Given the description of an element on the screen output the (x, y) to click on. 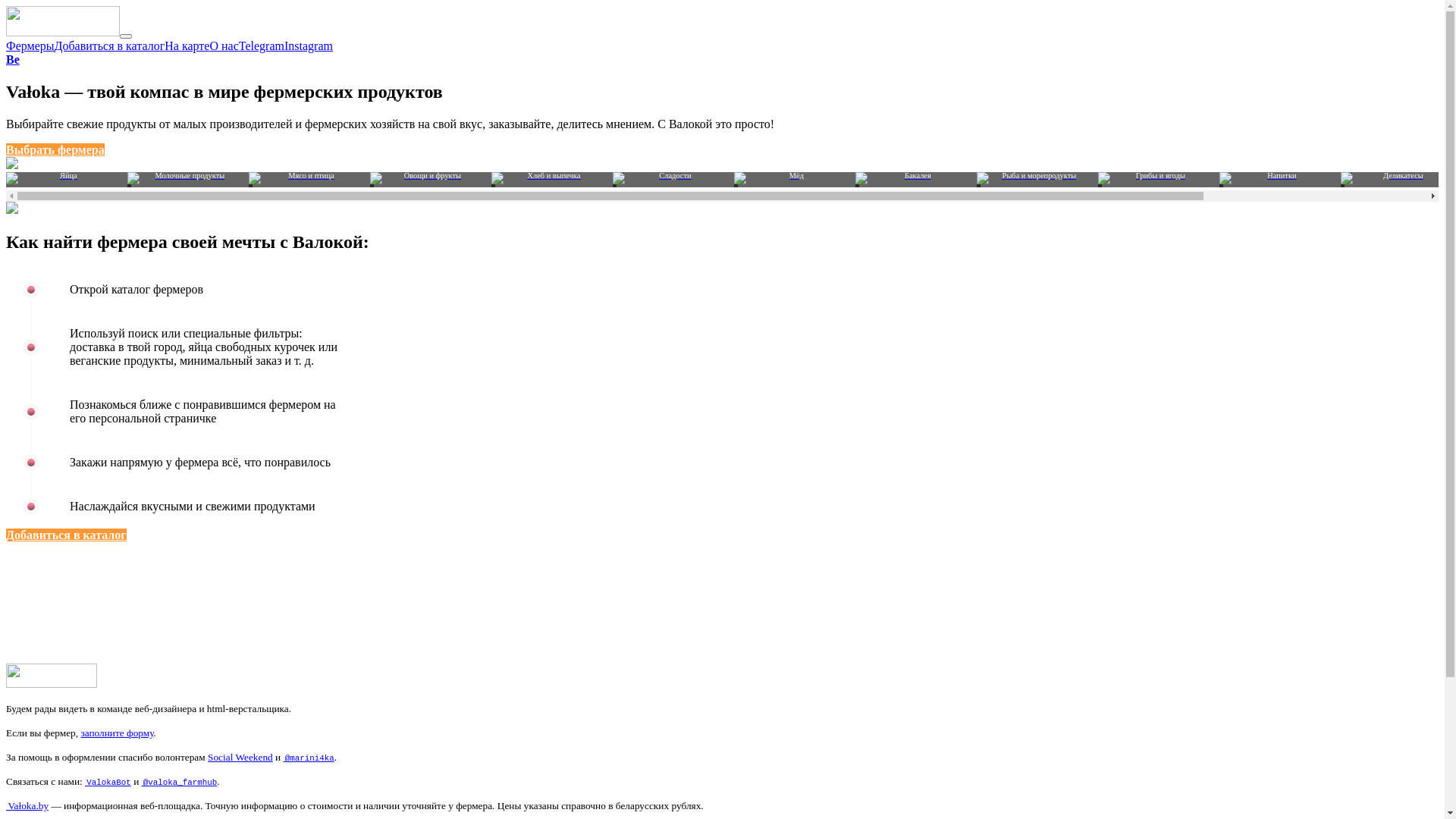
@marini4ka Element type: text (308, 756)
ValokaBot Element type: text (107, 781)
Telegram Element type: text (261, 45)
@valoka_farmhub Element type: text (179, 781)
Instagram Element type: text (308, 45)
Be Element type: text (12, 59)
Social Weekend Element type: text (240, 756)
